Given the description of an element on the screen output the (x, y) to click on. 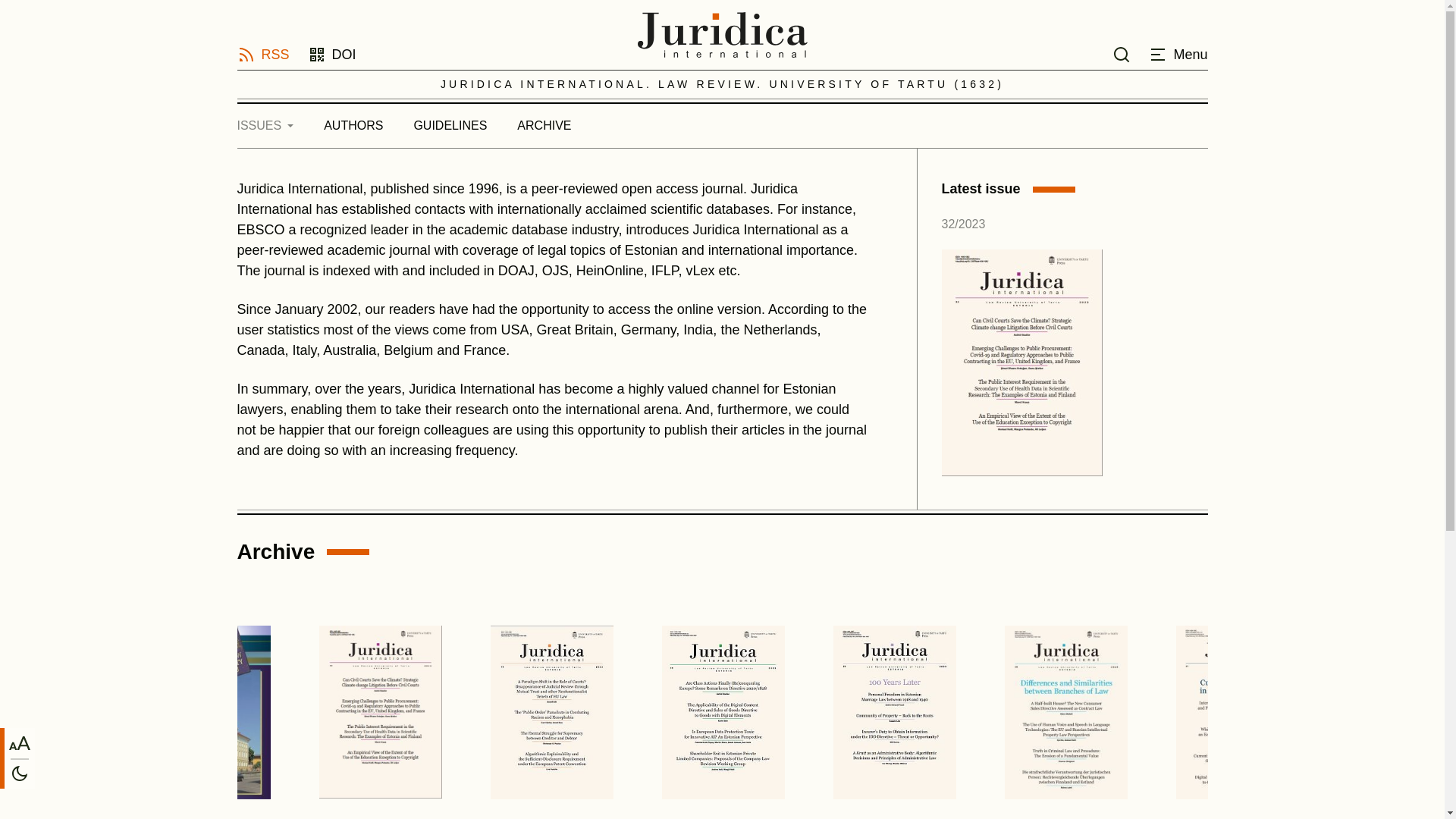
Search (1121, 54)
DOI (331, 54)
GUIDELINES (449, 125)
Juristica International (722, 36)
AUTHORS (352, 125)
ARCHIVE (544, 125)
ISSUES (271, 125)
Menu (1177, 54)
RSS (261, 54)
